Given the description of an element on the screen output the (x, y) to click on. 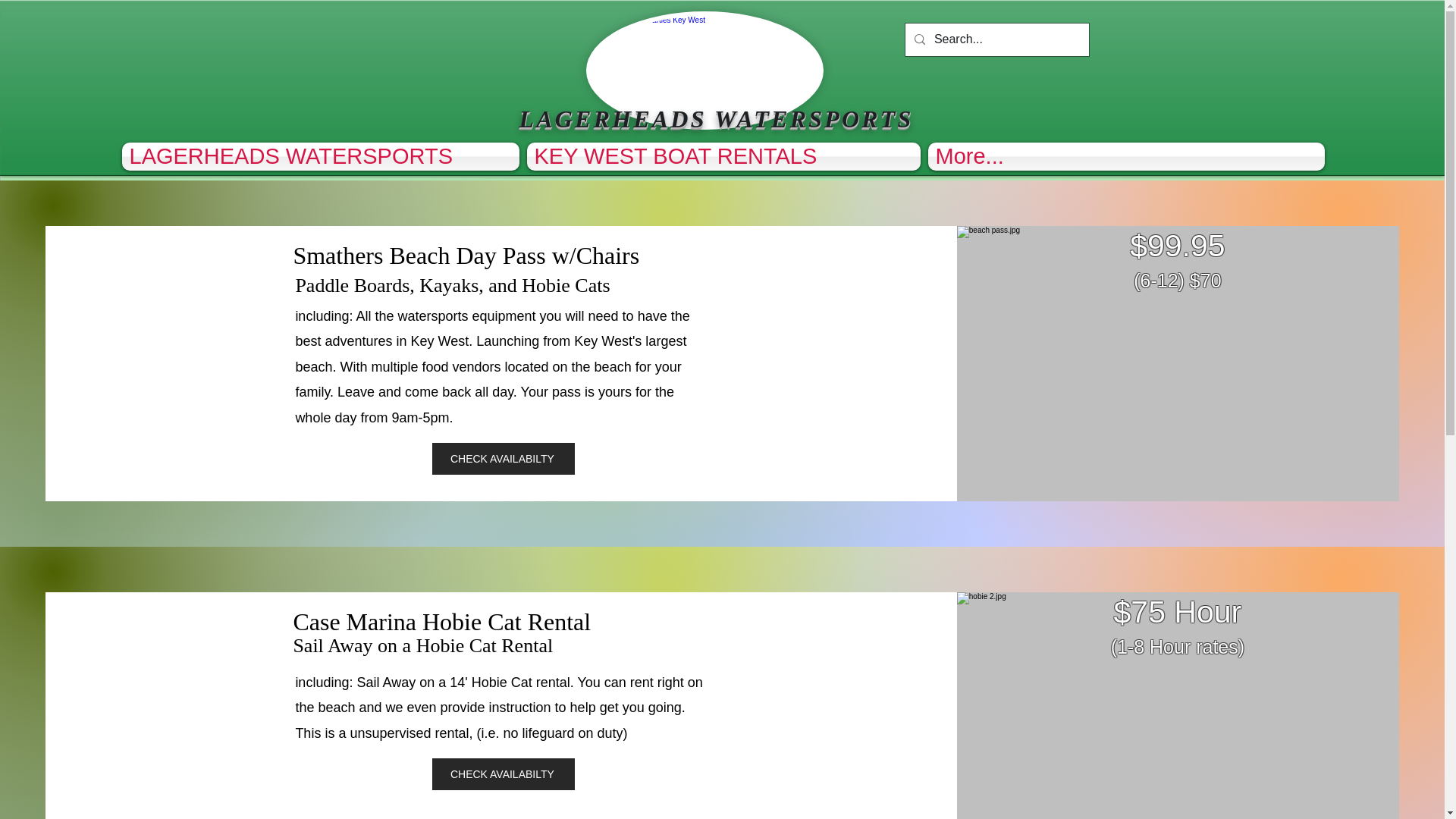
LAGERHEADS WATERSPORTS (321, 156)
CHECK AVAILABILTY (503, 459)
KEY WEST BOAT RENTALS (723, 156)
CHECK AVAILABILTY (503, 774)
